Given the description of an element on the screen output the (x, y) to click on. 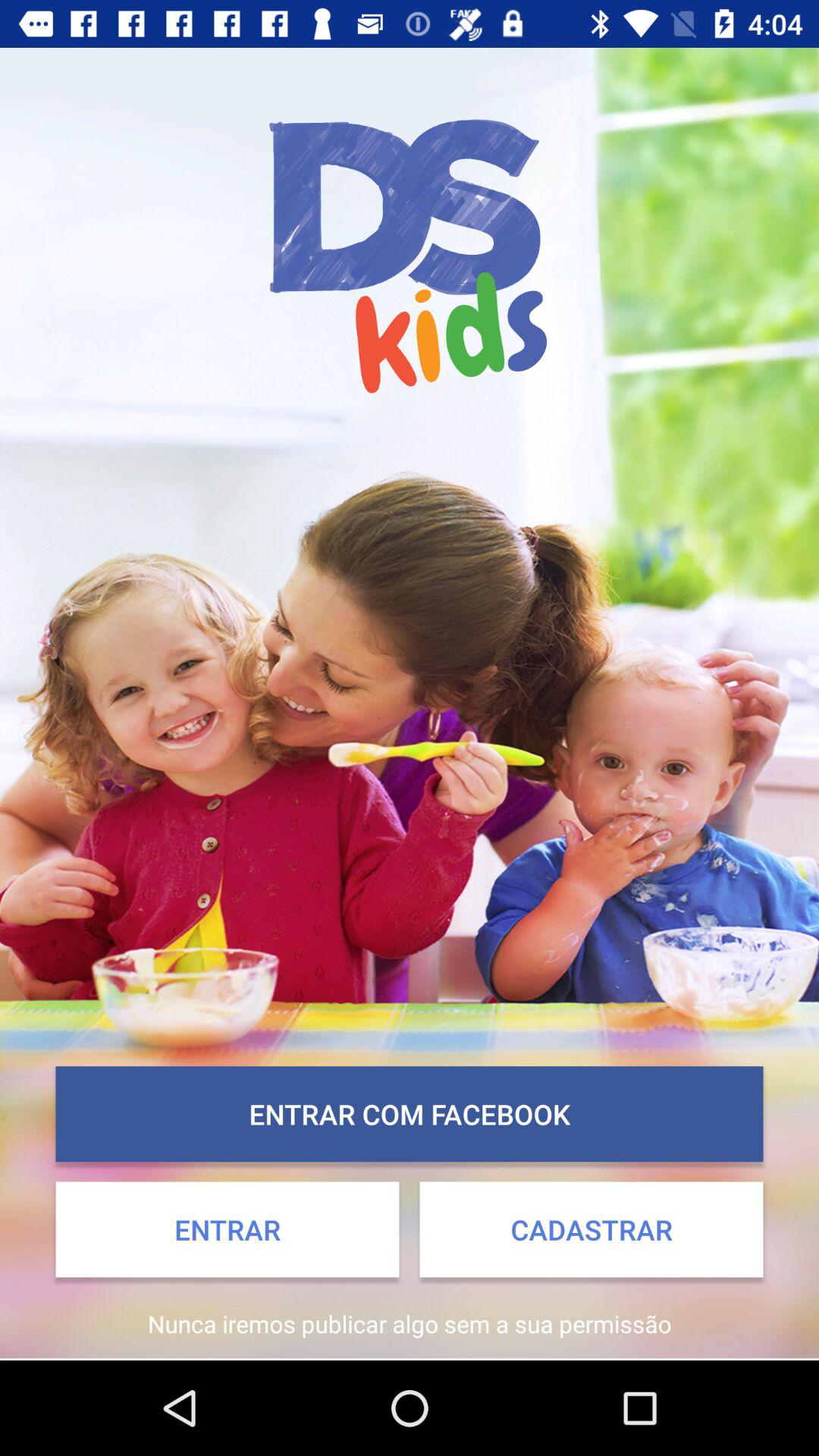
flip to entrar com facebook item (409, 1113)
